Given the description of an element on the screen output the (x, y) to click on. 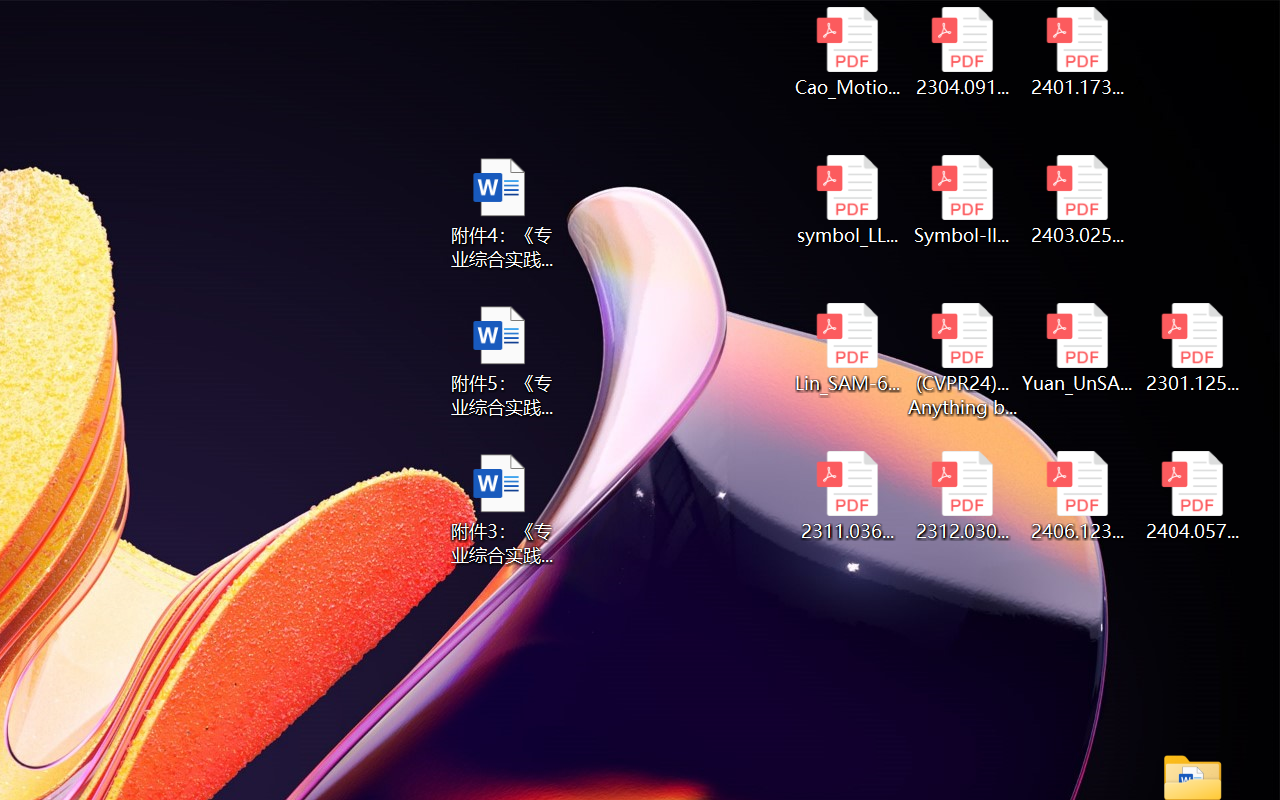
2403.02502v1.pdf (1077, 200)
Symbol-llm-v2.pdf (962, 200)
2404.05719v1.pdf (1192, 496)
(CVPR24)Matching Anything by Segmenting Anything.pdf (962, 360)
2301.12597v3.pdf (1192, 348)
2304.09121v3.pdf (962, 52)
2311.03658v2.pdf (846, 496)
symbol_LLM.pdf (846, 200)
2406.12373v2.pdf (1077, 496)
